Given the description of an element on the screen output the (x, y) to click on. 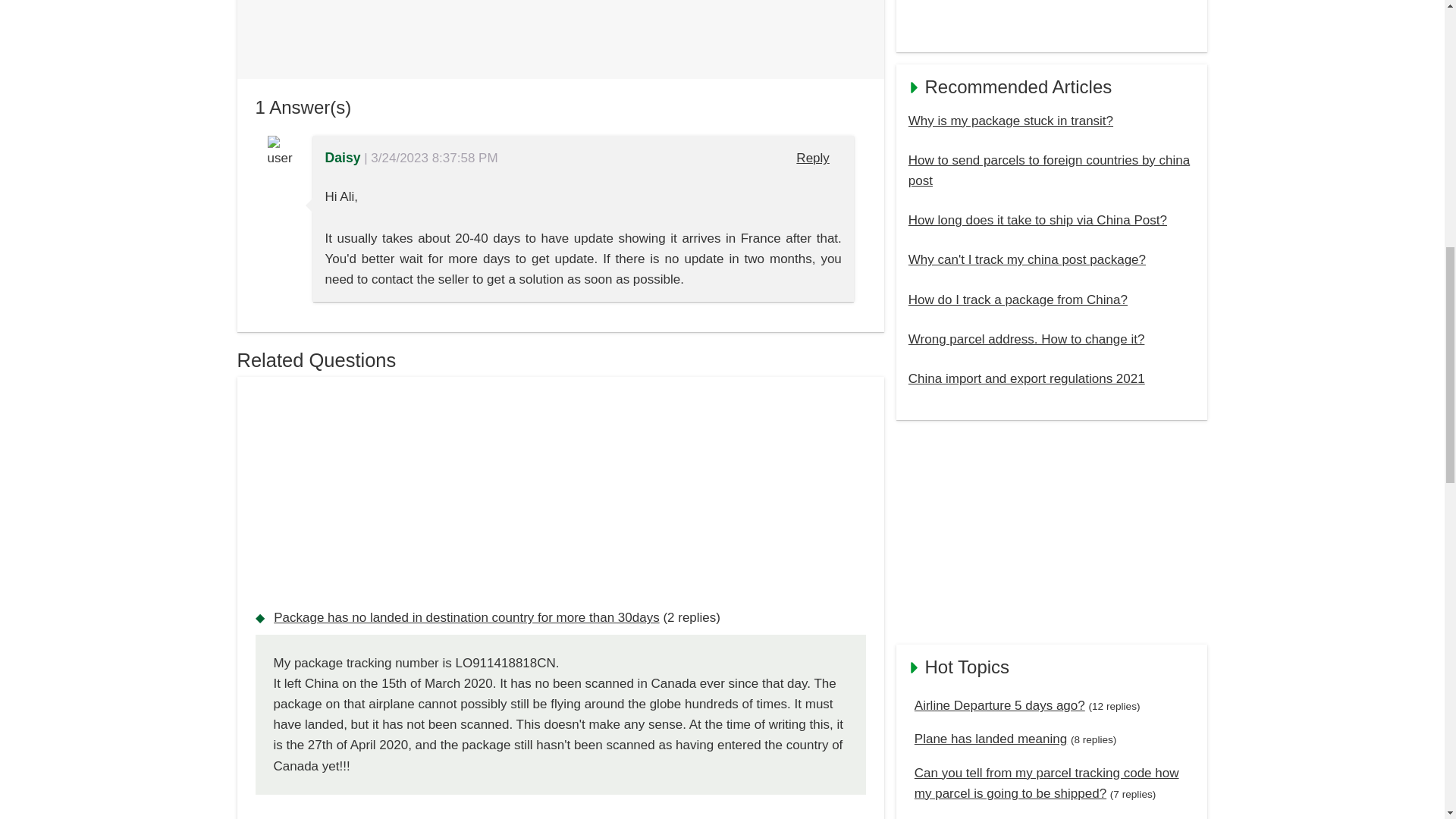
Plane has landed meaning (990, 739)
Airline Departure 5 days ago? (999, 705)
Reply (812, 157)
